Given the description of an element on the screen output the (x, y) to click on. 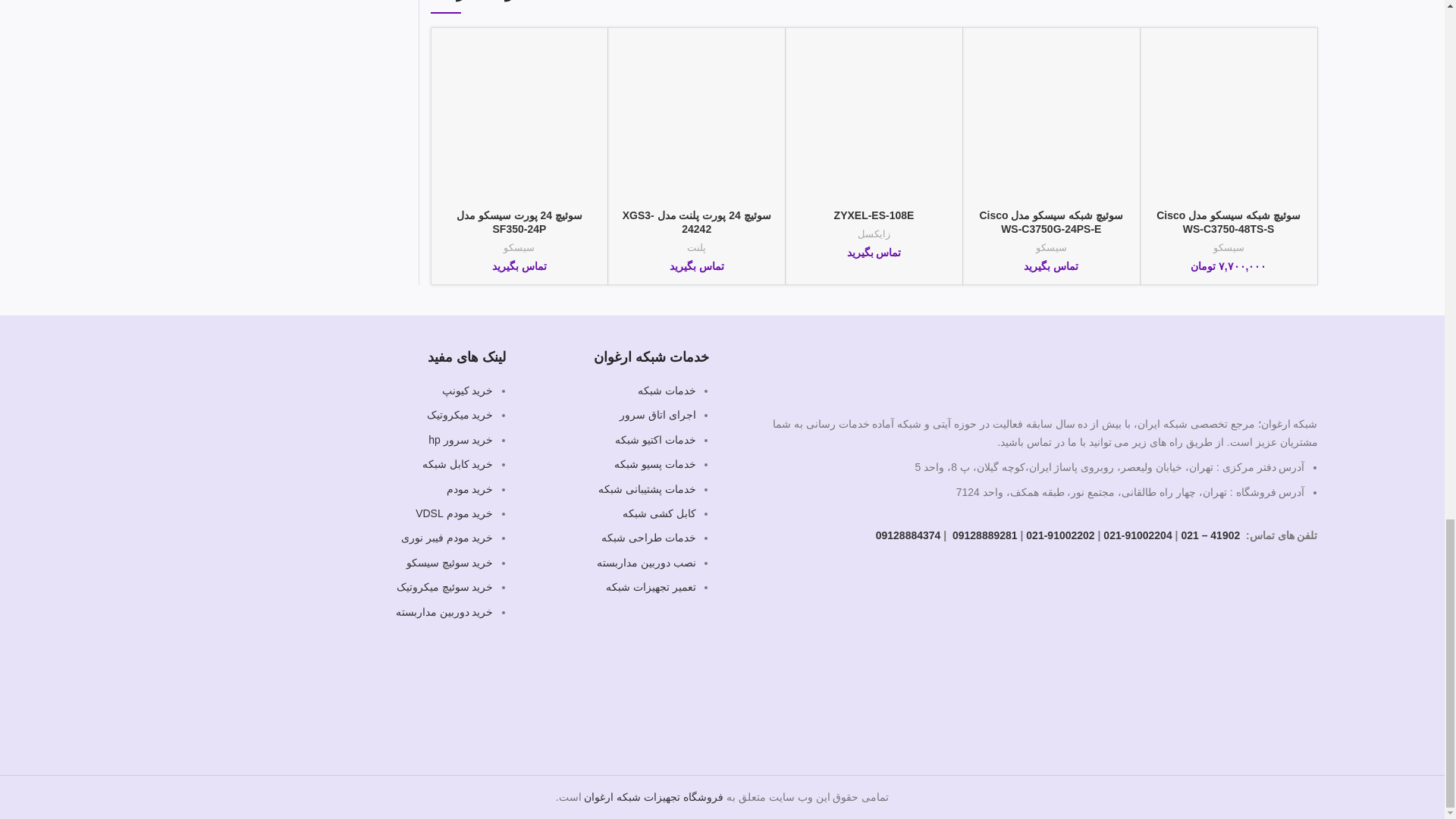
arghavannet-logo (1253, 368)
